Given the description of an element on the screen output the (x, y) to click on. 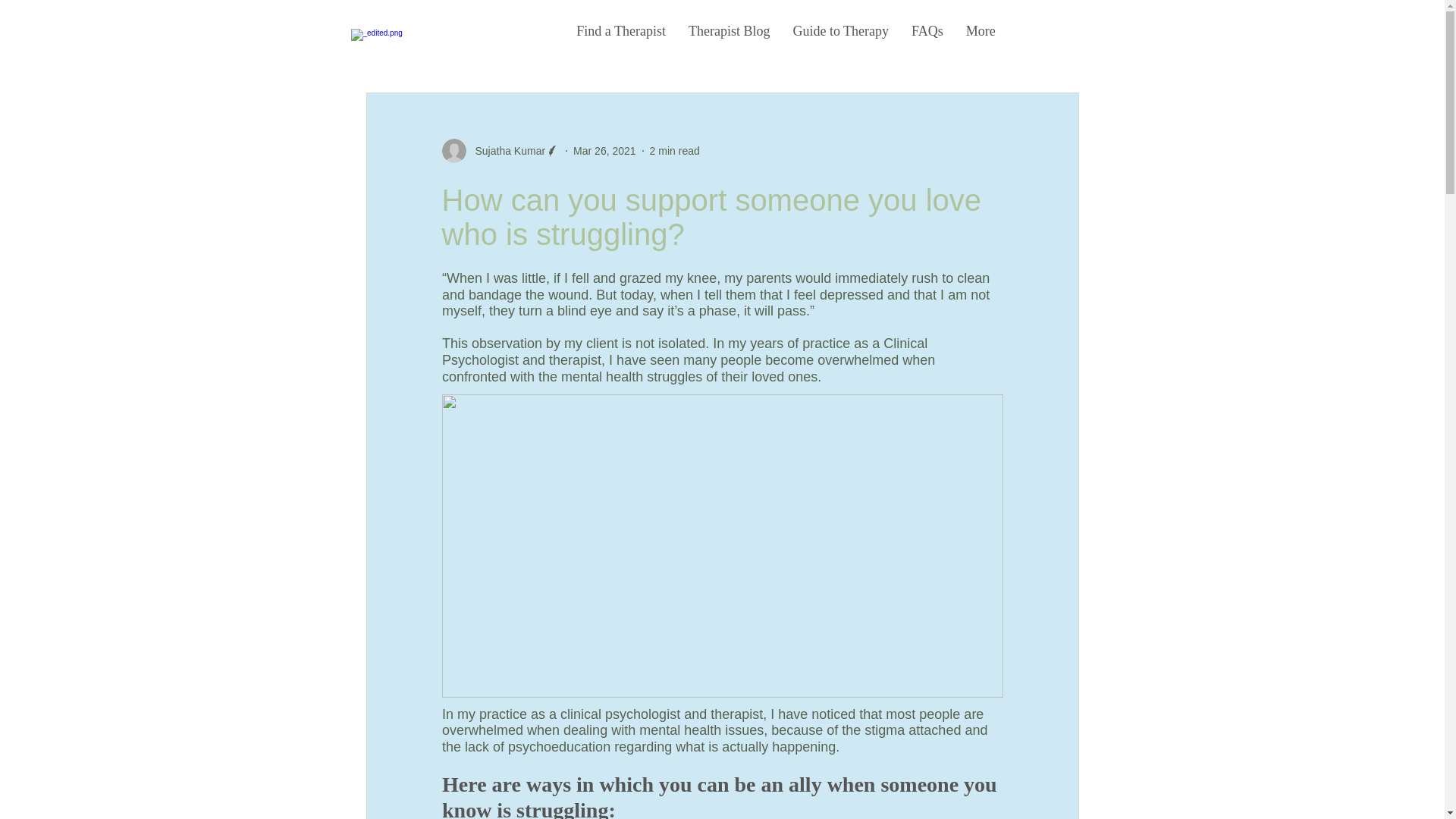
Sujatha Kumar (504, 150)
2 min read (674, 150)
FAQs (927, 42)
Therapist Blog (728, 42)
Mar 26, 2021 (604, 150)
Find a Therapist (620, 42)
Guide to Therapy (839, 42)
